Given the description of an element on the screen output the (x, y) to click on. 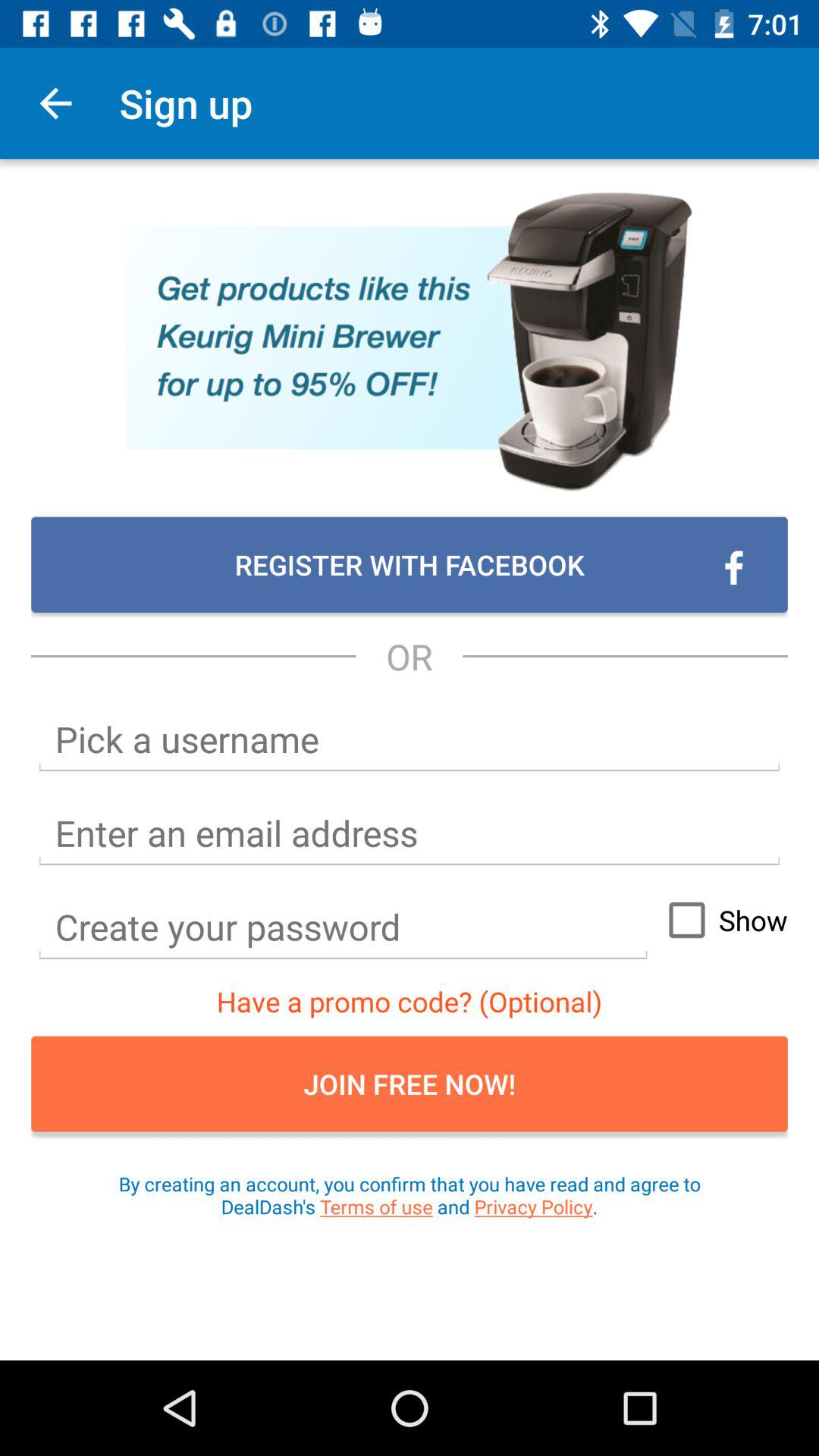
tap the item above or icon (409, 564)
